Given the description of an element on the screen output the (x, y) to click on. 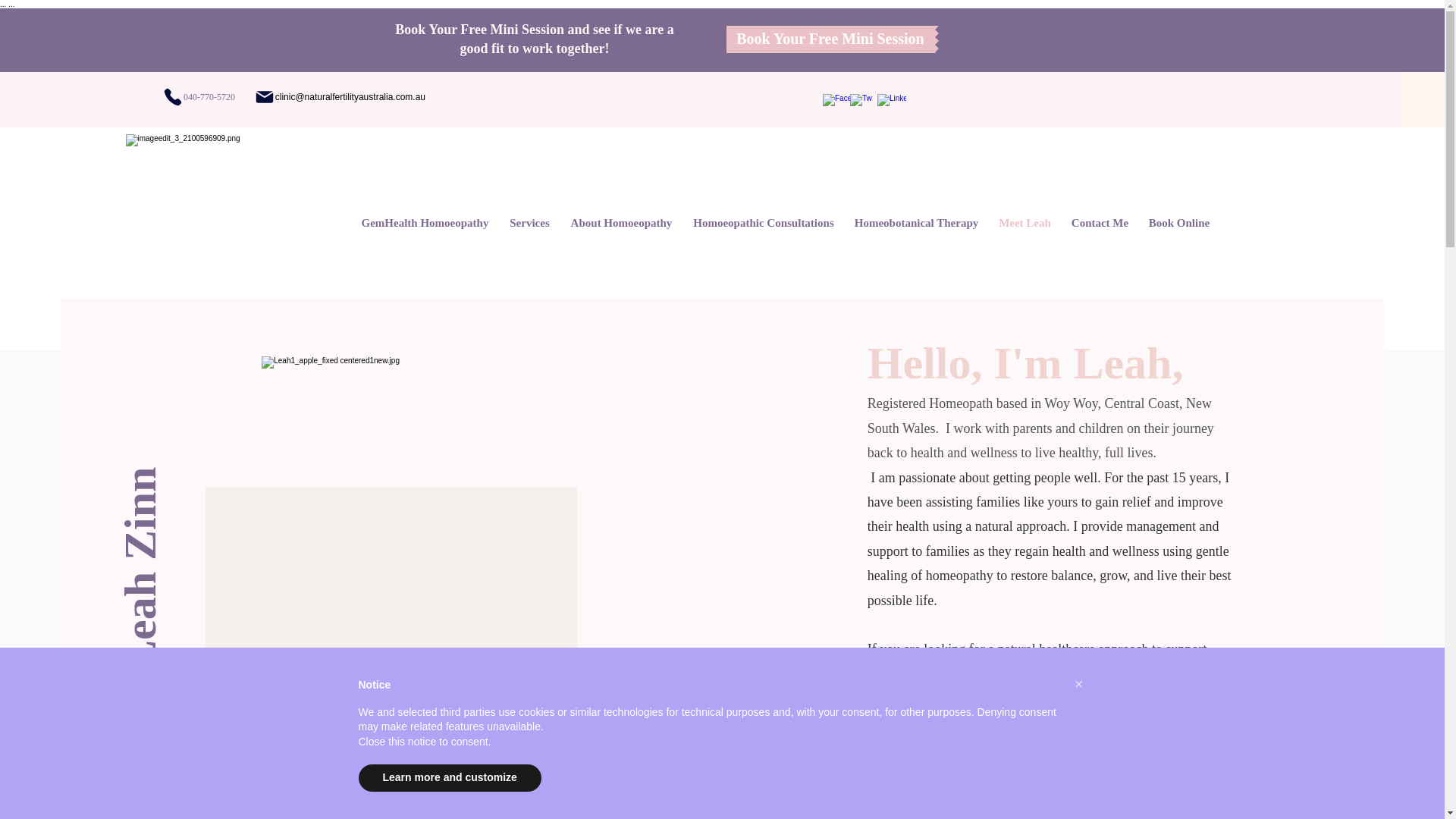
Meet Leah Element type: text (1024, 222)
Homoeopathic Consultations Element type: text (763, 222)
Contact Me Element type: text (1100, 222)
Book Your Free Mini Session Element type: text (830, 39)
Services Element type: text (528, 222)
Book Online Element type: text (1179, 222)
clinic@naturalfertilityaustralia.com.au Element type: text (336, 96)
About Homoeopathy Element type: text (620, 222)
040-770-5720 Element type: text (138, 96)
GemHealth Homoeopathy Element type: text (424, 222)
Learn more and customize Element type: text (448, 777)
Homeobotanical Therapy Element type: text (916, 222)
